Given the description of an element on the screen output the (x, y) to click on. 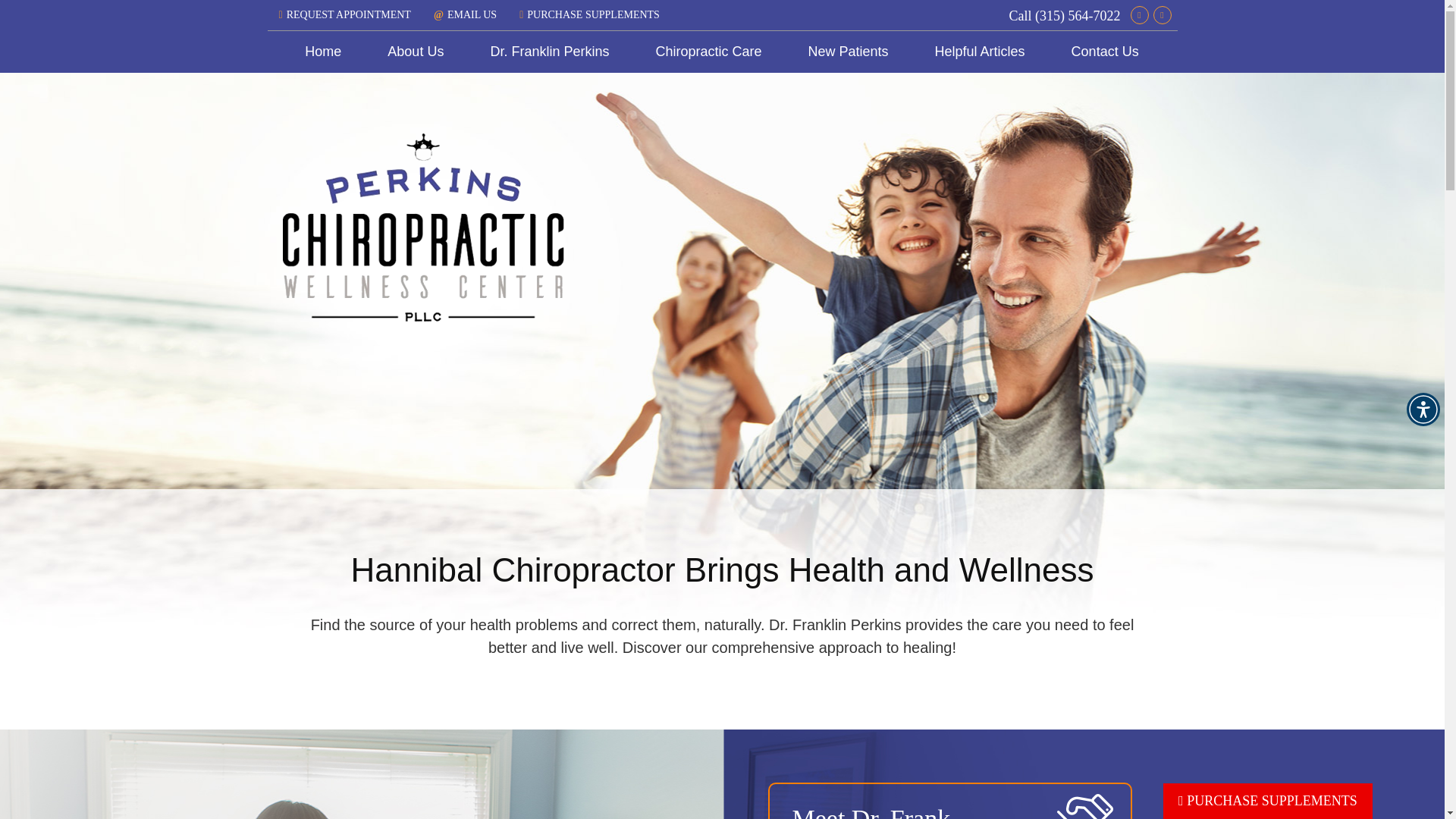
PURCHASE SUPPLEMENTS (1268, 800)
Yelp Social Button (1161, 14)
Helpful Articles (980, 51)
EMAIL US (464, 14)
Chiropractic Care (707, 51)
PURCHASE SUPPLEMENTS (589, 14)
REQUEST APPOINTMENT (344, 14)
Dr. Franklin Perkins (549, 51)
New Patients (847, 51)
Contact (464, 14)
